Given the description of an element on the screen output the (x, y) to click on. 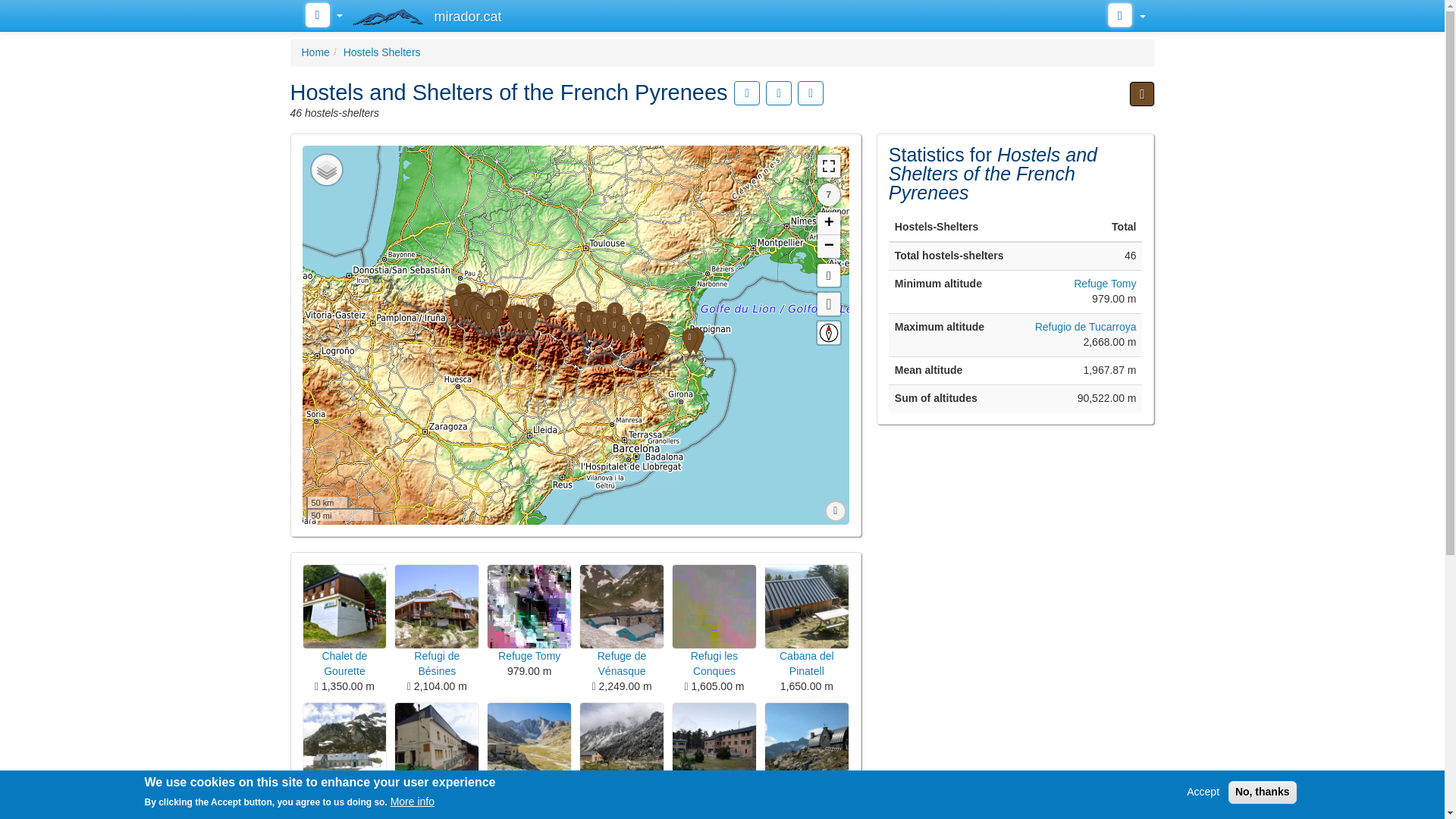
Click to see additional information... (746, 93)
Refugi les Conques (714, 606)
7 (828, 194)
Locate (828, 303)
Home (315, 51)
mirador.cat (429, 13)
View list (778, 93)
Zoom in (828, 223)
Guarded hut (621, 686)
View Fullscreen (828, 165)
